Given the description of an element on the screen output the (x, y) to click on. 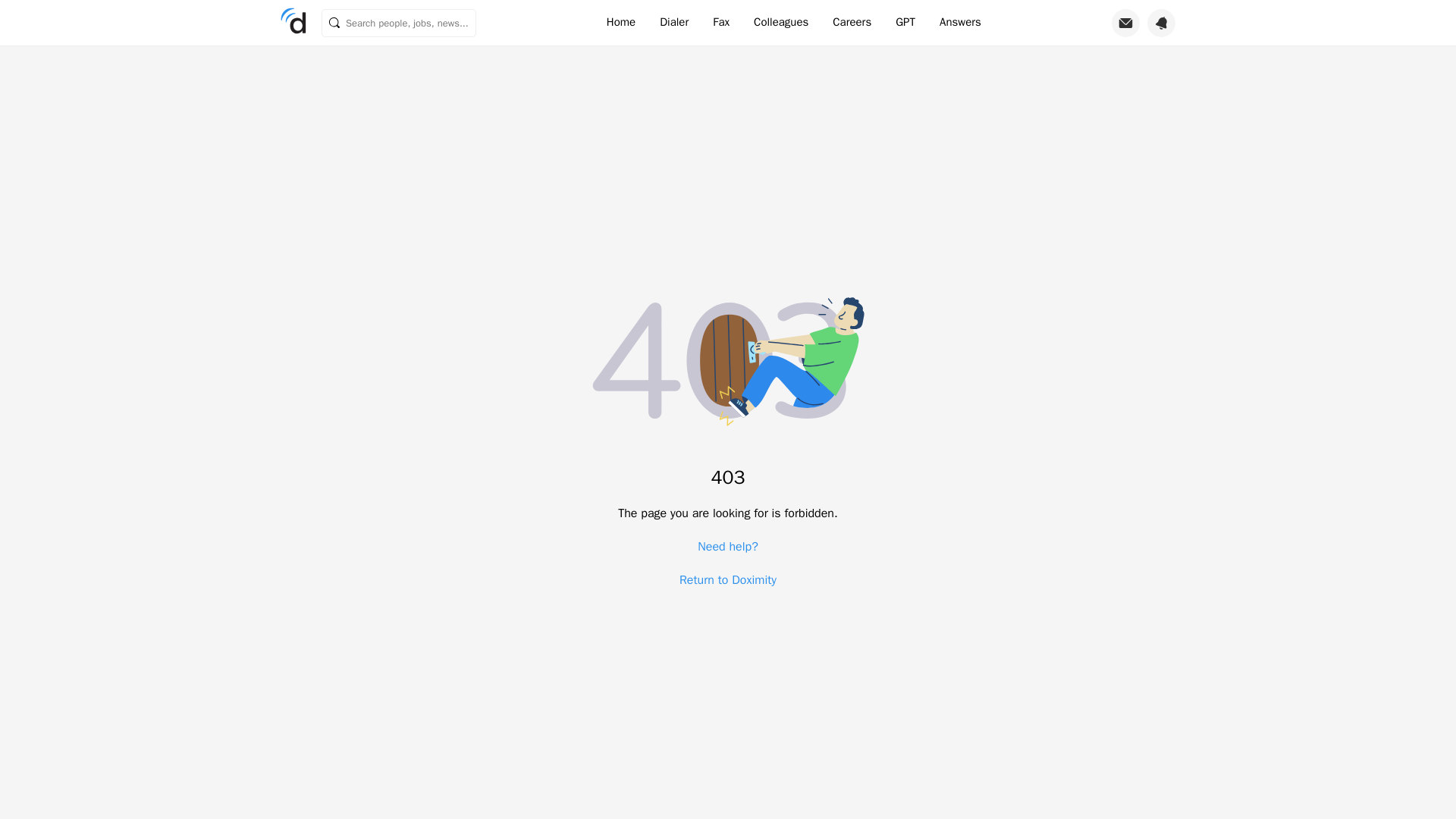
Need help? (727, 545)
Colleagues (781, 22)
Search people, jobs, news... (398, 22)
Fax (721, 22)
Careers (851, 22)
Dialer (673, 22)
Home (620, 22)
GPT (905, 22)
Answers (960, 22)
Return to Doximity (727, 579)
